Given the description of an element on the screen output the (x, y) to click on. 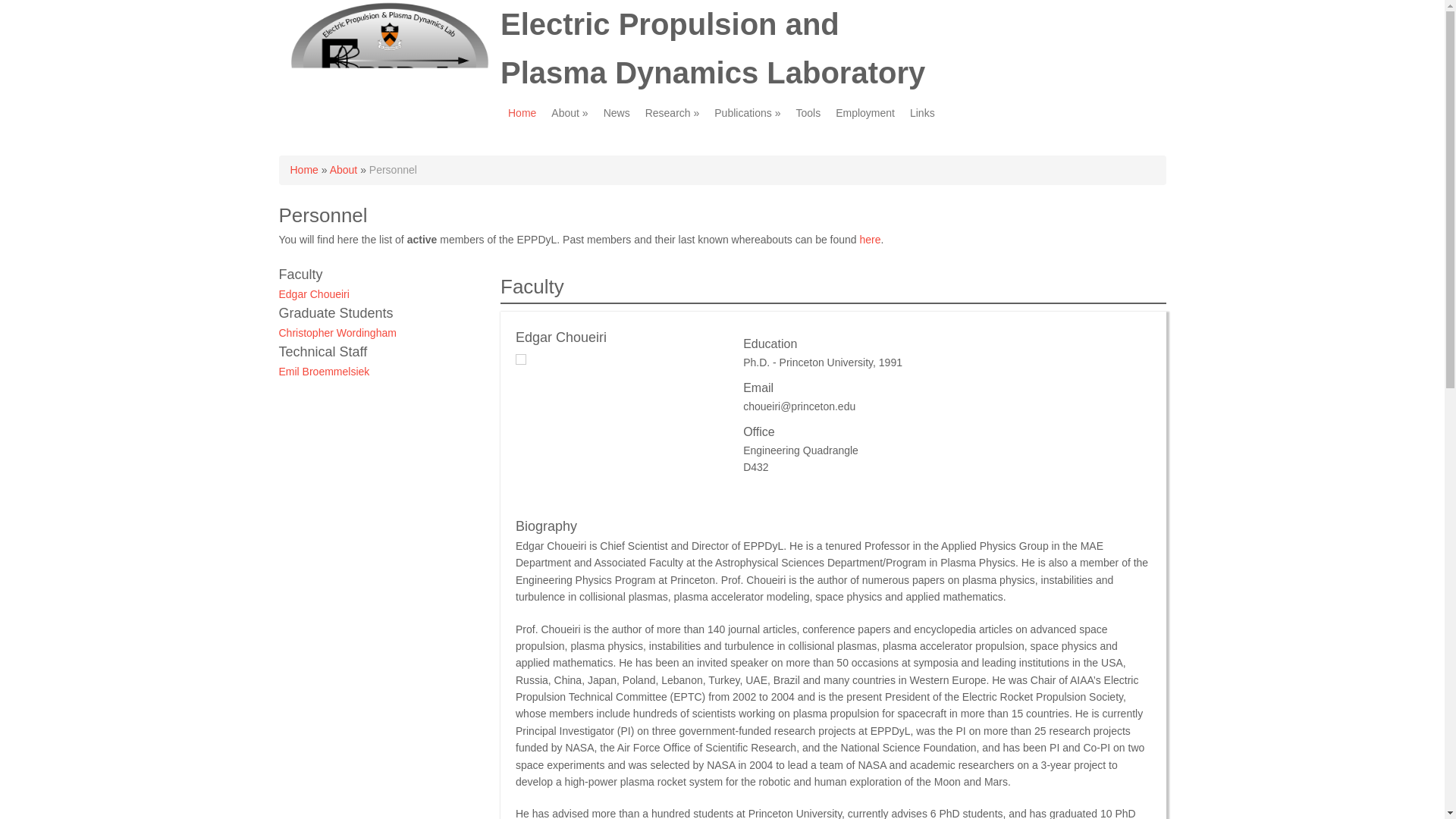
News (616, 112)
Edgar Choueiri (314, 294)
here (870, 239)
Home (389, 119)
Employment (865, 112)
Emil Broemmelsiek (324, 371)
Christopher Wordingham (337, 332)
Links (922, 112)
Tools (807, 112)
Home (521, 112)
About (344, 169)
Home (303, 169)
Personnel (392, 169)
